Given the description of an element on the screen output the (x, y) to click on. 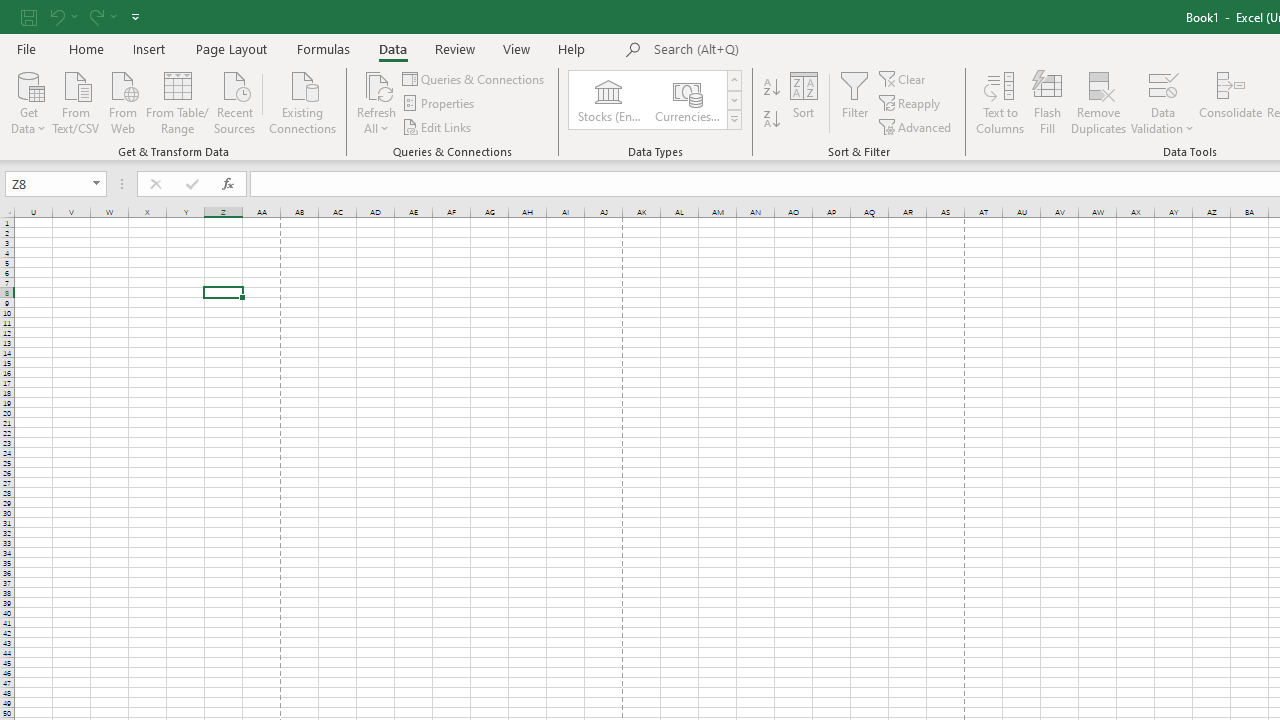
Consolidate... (1230, 102)
Row up (734, 79)
Stocks (English) (608, 100)
Text to Columns... (1000, 102)
Queries & Connections (474, 78)
From Text/CSV (75, 101)
Get Data (28, 101)
AutomationID: ConvertToLinkedEntity (655, 99)
Sort A to Z (772, 87)
